Given the description of an element on the screen output the (x, y) to click on. 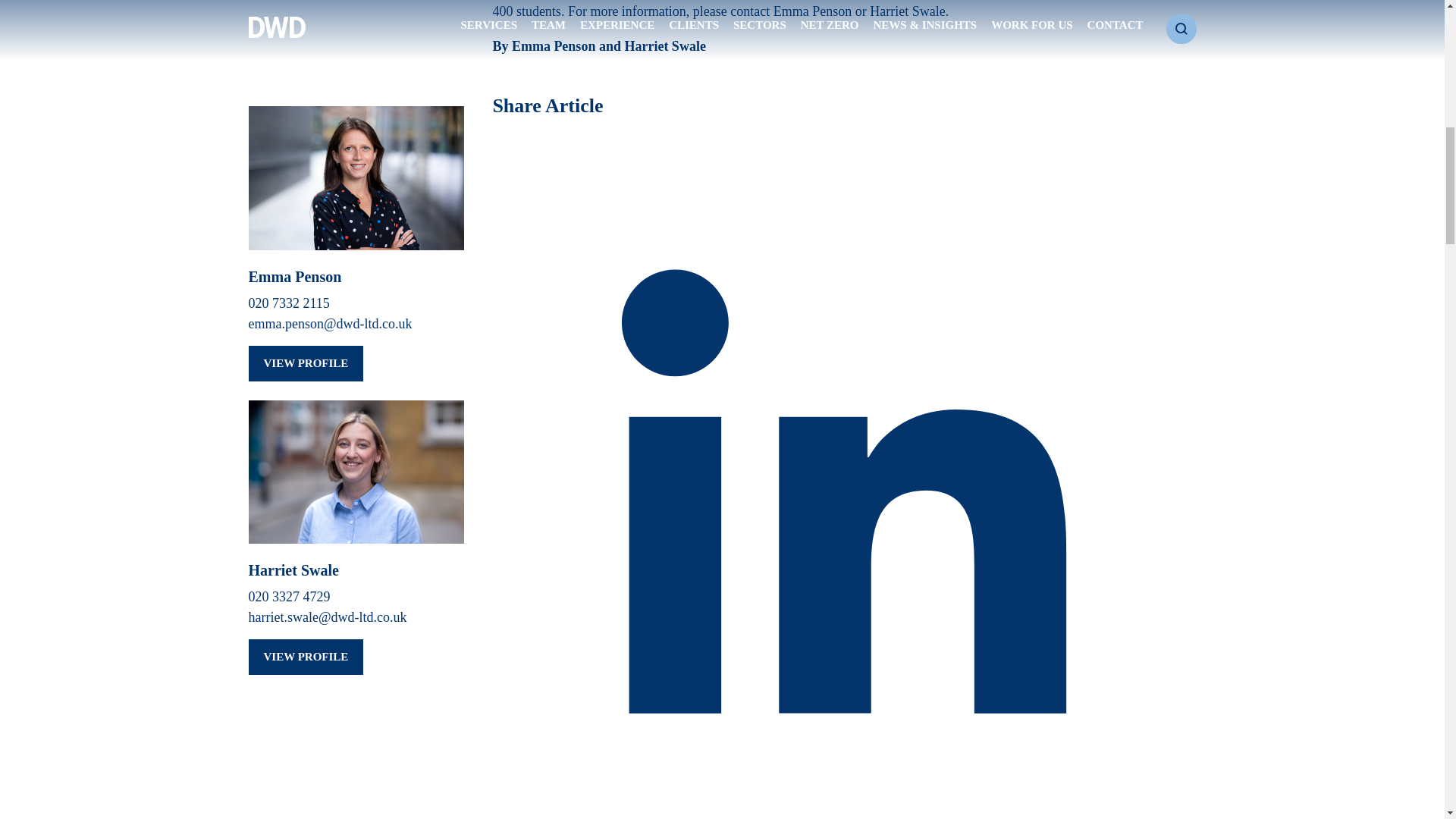
Emma Penson (812, 11)
Harriet Swale (906, 11)
